Given the description of an element on the screen output the (x, y) to click on. 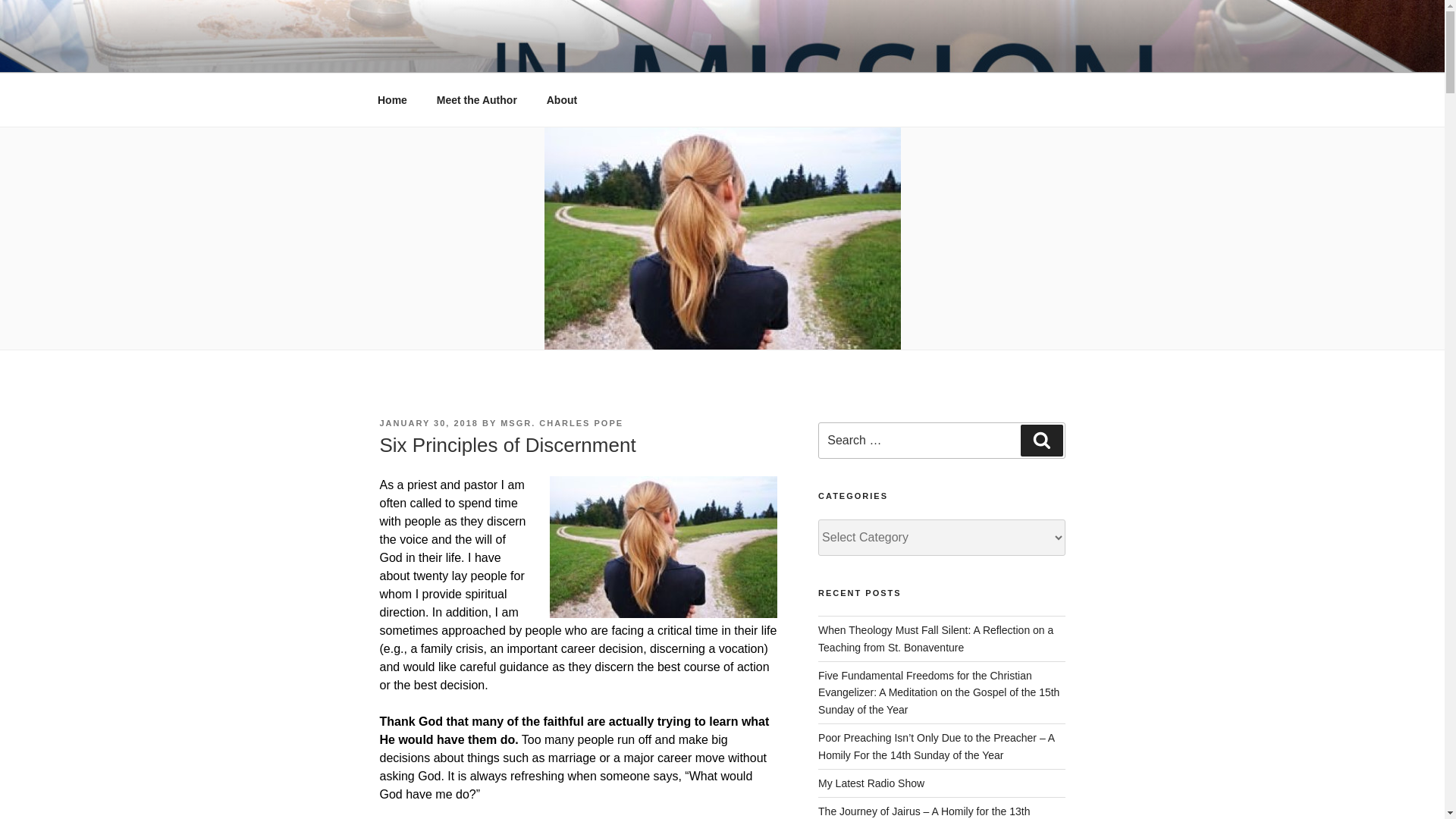
Home (392, 99)
About (560, 99)
Meet the Author (476, 99)
MSGR. CHARLES POPE (561, 422)
JANUARY 30, 2018 (427, 422)
My Latest Radio Show (871, 783)
Search (1041, 440)
COMMUNITY IN MISSION (563, 52)
